Given the description of an element on the screen output the (x, y) to click on. 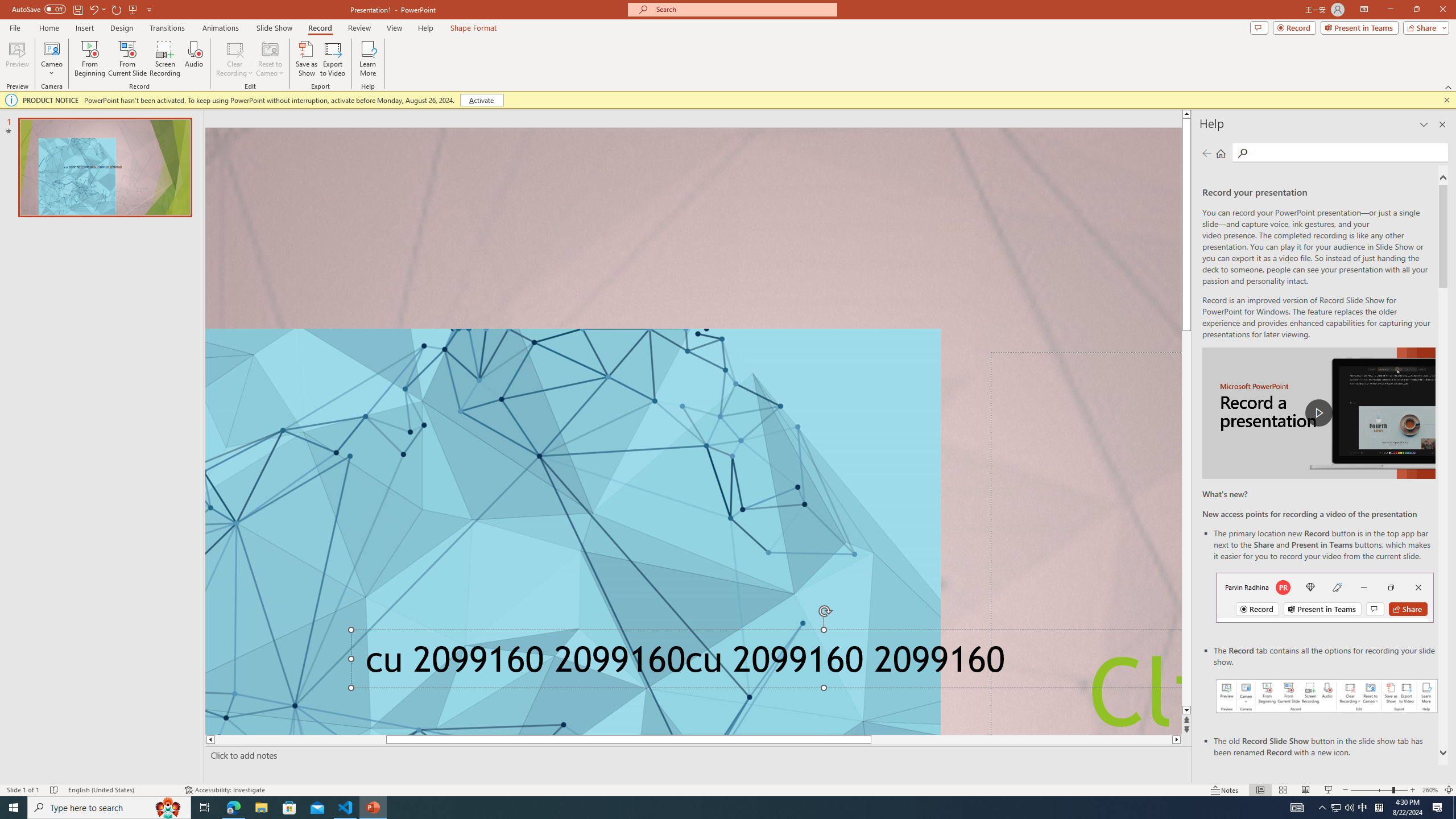
Audio (193, 58)
Zoom 260% (1430, 790)
